Given the description of an element on the screen output the (x, y) to click on. 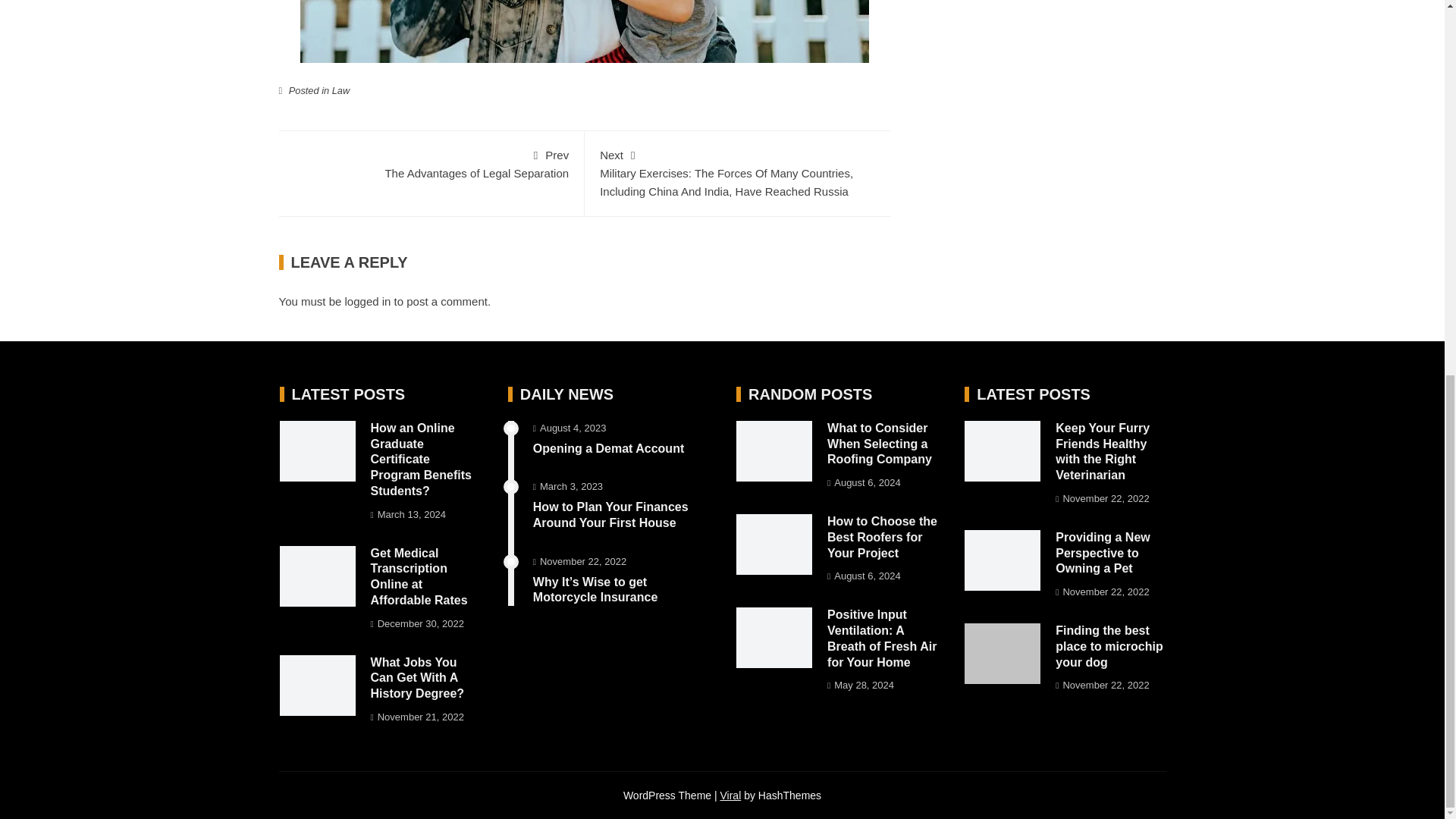
Get Medical Transcription Online at Affordable Rates (431, 162)
Download Viral (419, 576)
Law (730, 795)
logged in (340, 90)
Why Is Family Law Necessary? (368, 300)
